Given the description of an element on the screen output the (x, y) to click on. 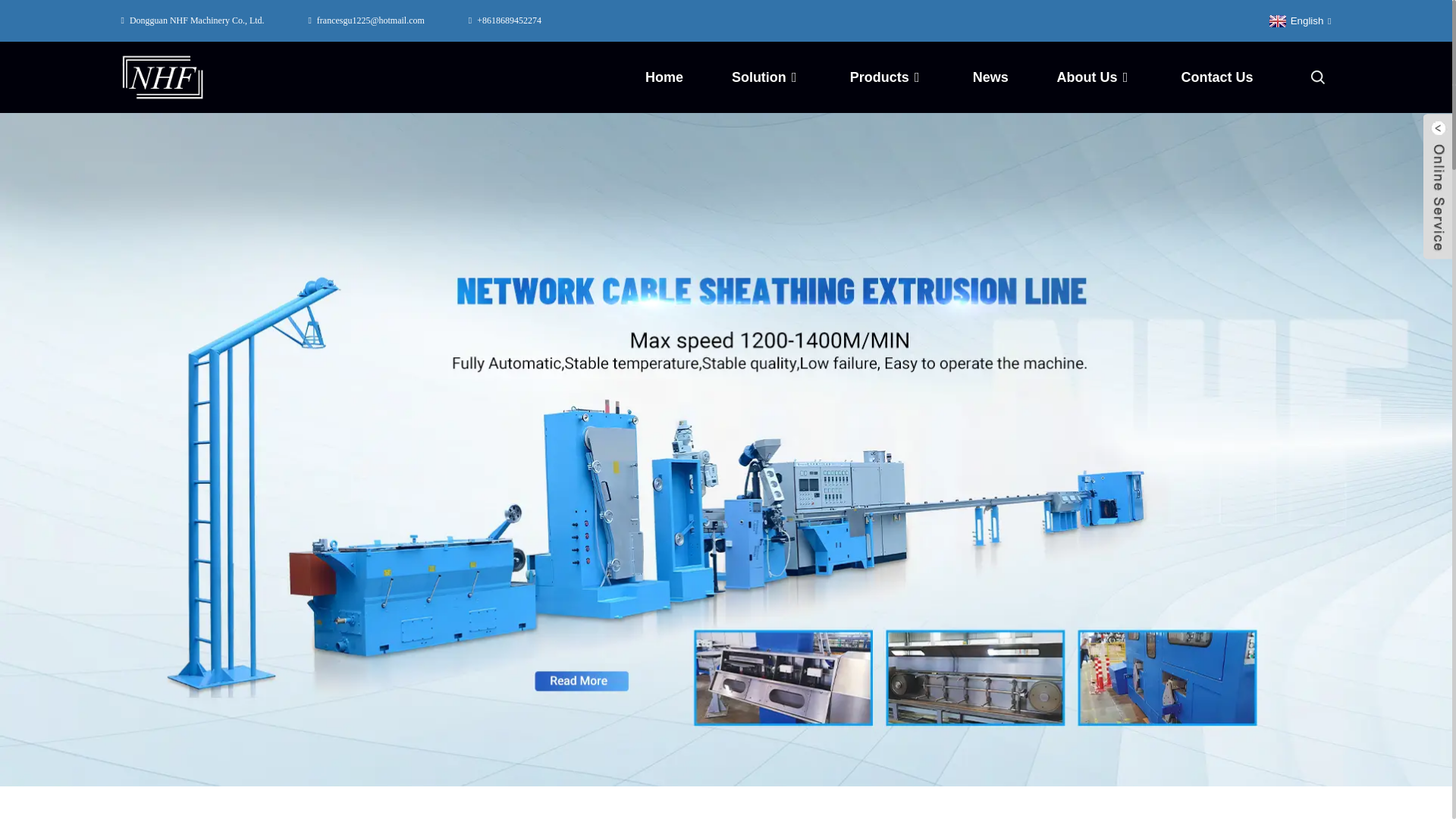
Home (663, 76)
About Us (1094, 76)
News (990, 76)
Products (887, 76)
English (1298, 20)
Solution (767, 76)
Contact Us (1216, 76)
